Given the description of an element on the screen output the (x, y) to click on. 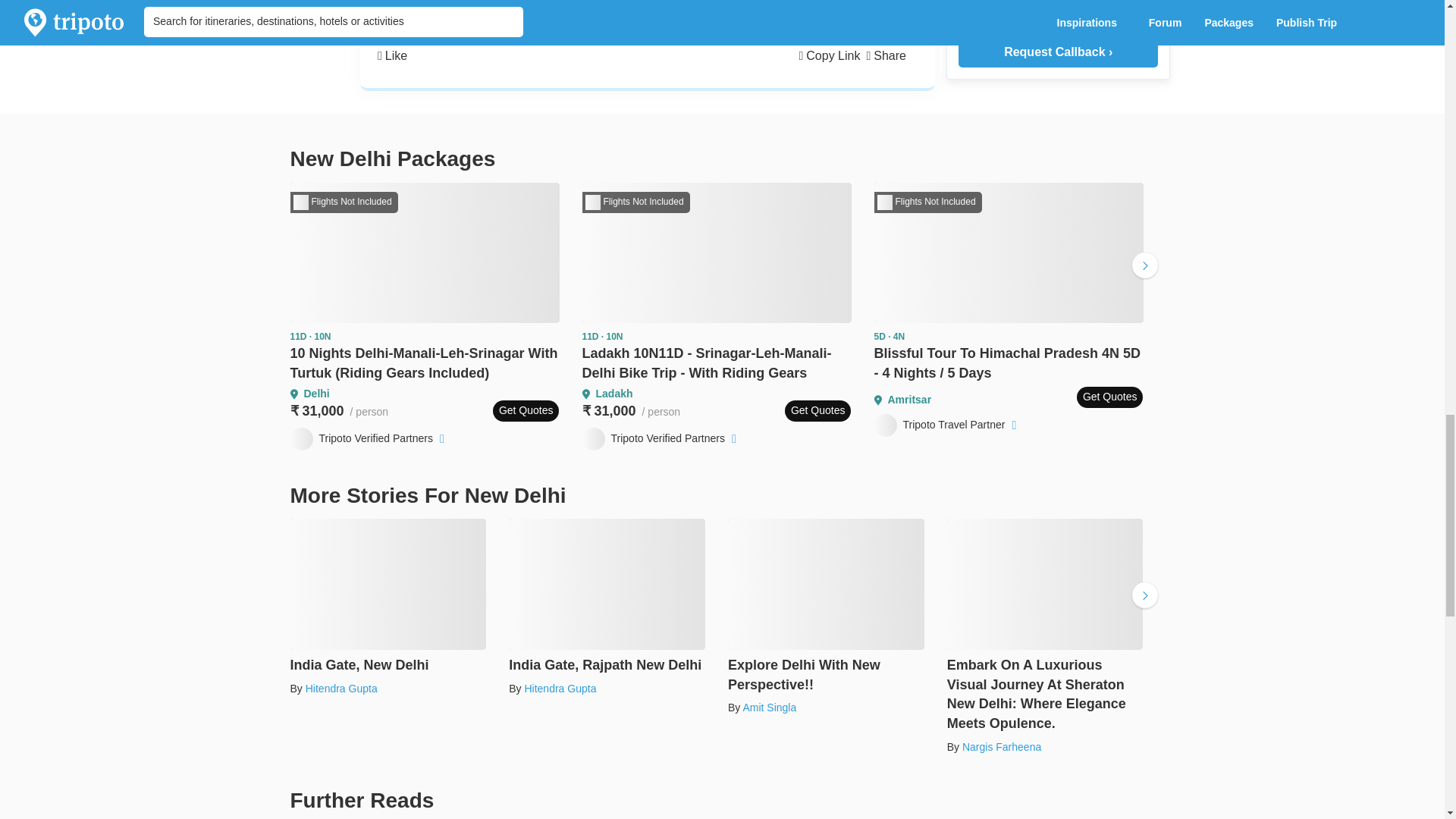
Tripoto Verified Partners (367, 438)
Get Quotes (817, 410)
Get Quotes (526, 410)
